Given the description of an element on the screen output the (x, y) to click on. 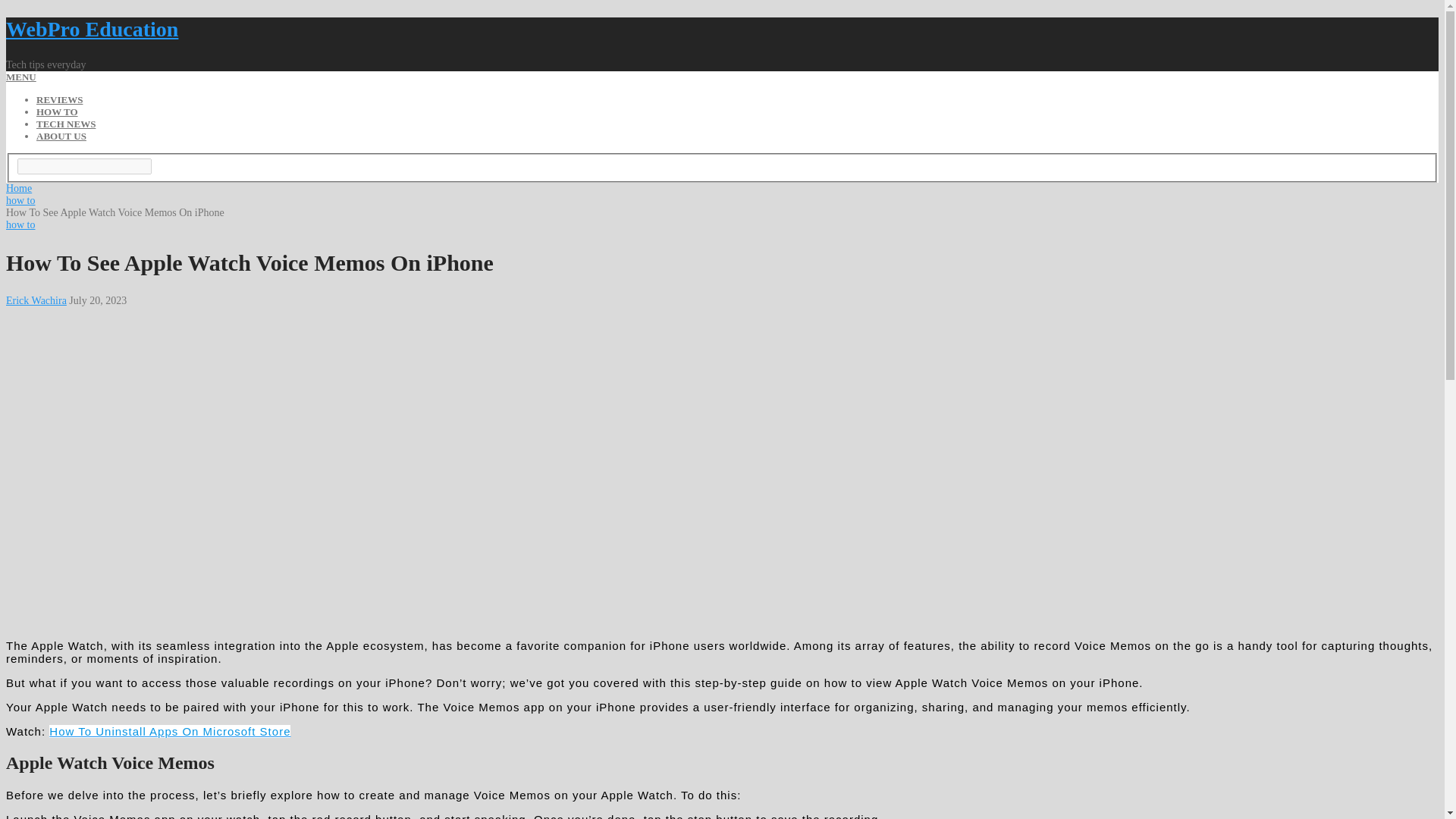
How To Uninstall Apps On Microsoft Store (169, 730)
WebPro Education (91, 28)
View all posts in how to (19, 224)
Home (18, 188)
HOW TO (57, 111)
how to (19, 224)
Posts by Erick Wachira (35, 300)
how to (19, 200)
MENU (20, 76)
